Given the description of an element on the screen output the (x, y) to click on. 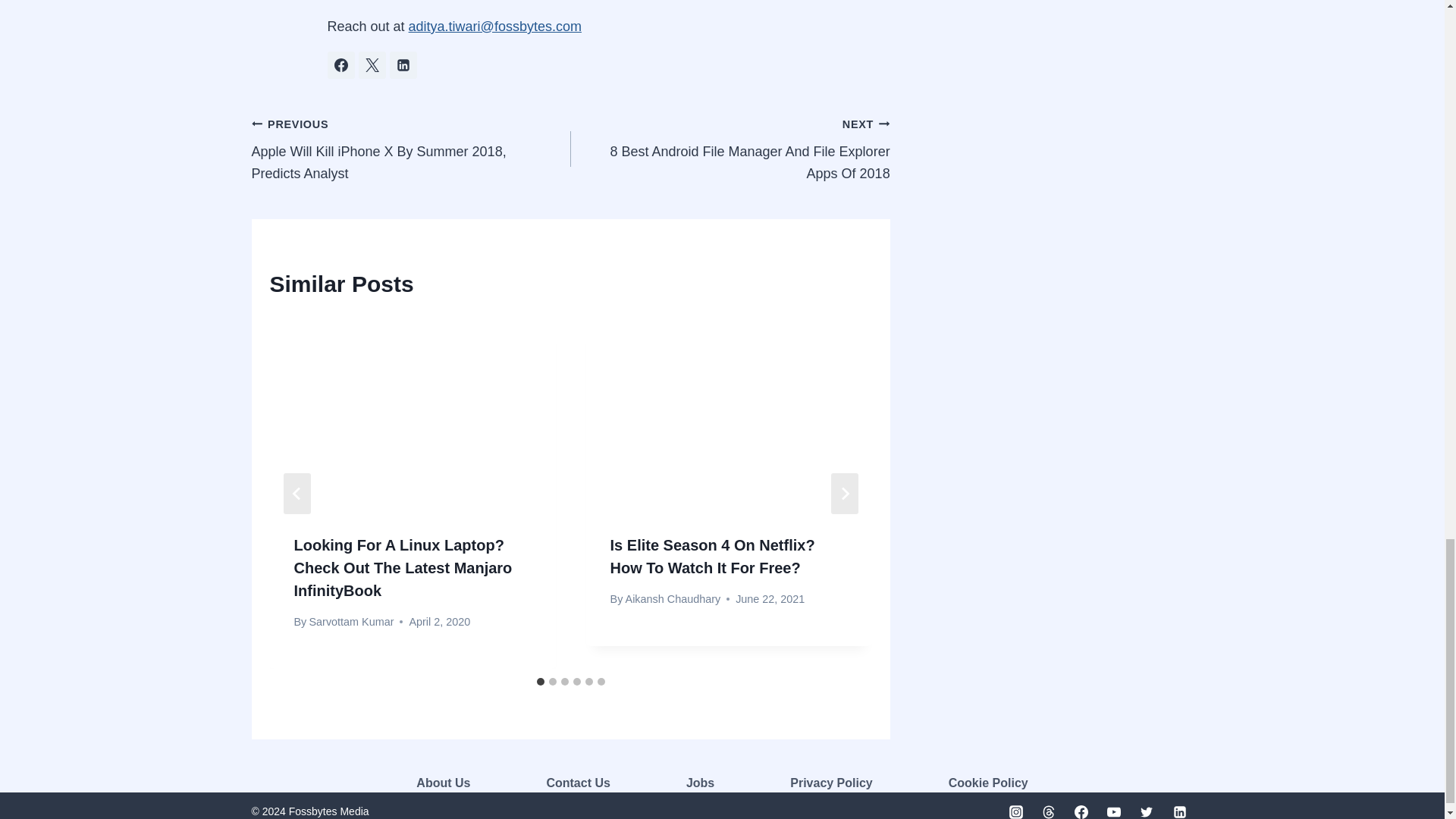
Follow Aditya Tiwari on X formerly Twitter (371, 64)
Follow Aditya Tiwari on Linkedin (403, 64)
Sarvottam Kumar (350, 621)
Follow Aditya Tiwari on Facebook (341, 64)
Is Elite Season 4 On Netflix? How To Watch It For Free? (712, 556)
Aikansh Chaudhary (673, 598)
